Given the description of an element on the screen output the (x, y) to click on. 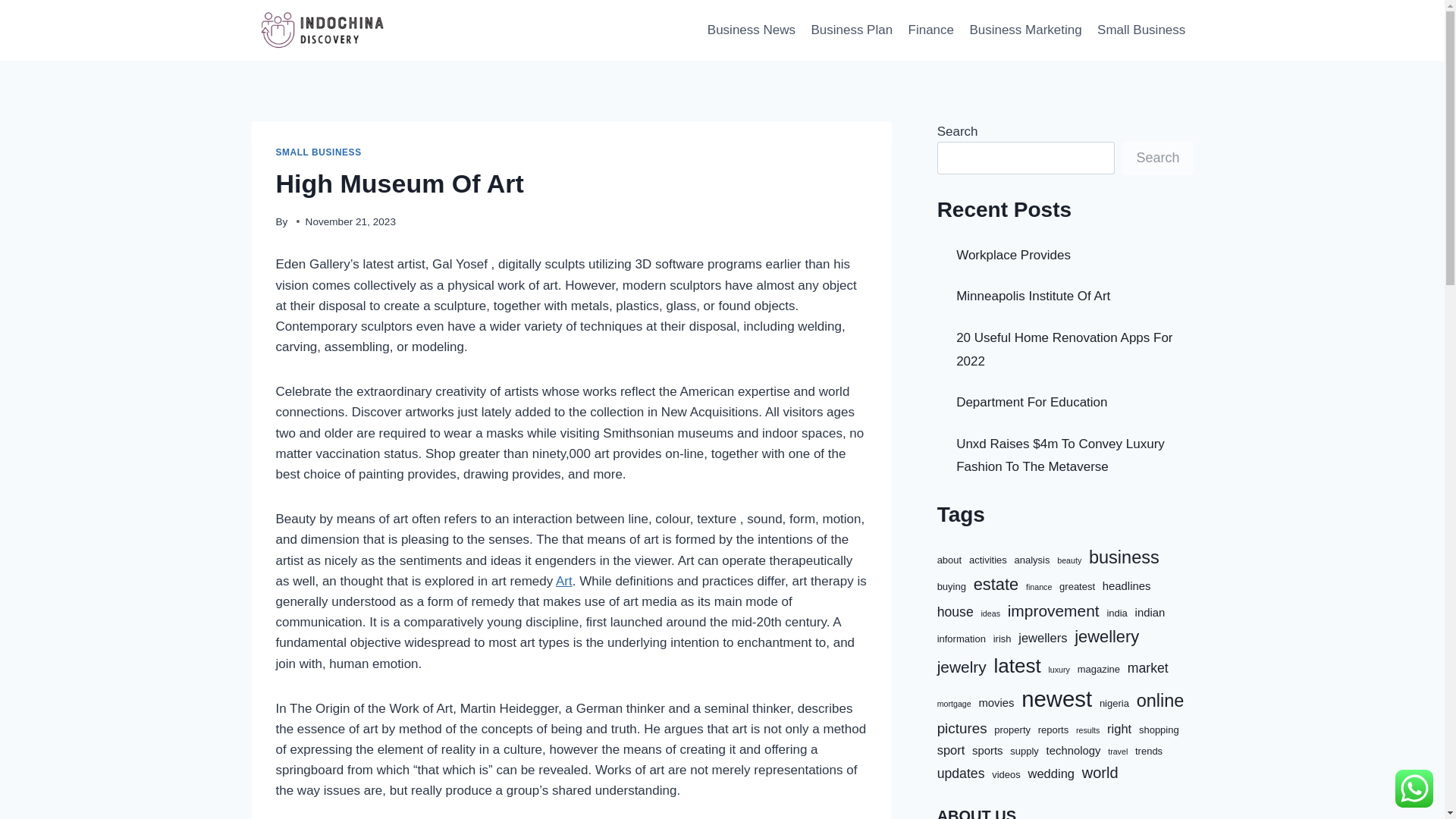
Art (564, 581)
Business Plan (851, 30)
Business Marketing (1024, 30)
Small Business (1141, 30)
Business News (751, 30)
SMALL BUSINESS (318, 152)
Finance (929, 30)
